Given the description of an element on the screen output the (x, y) to click on. 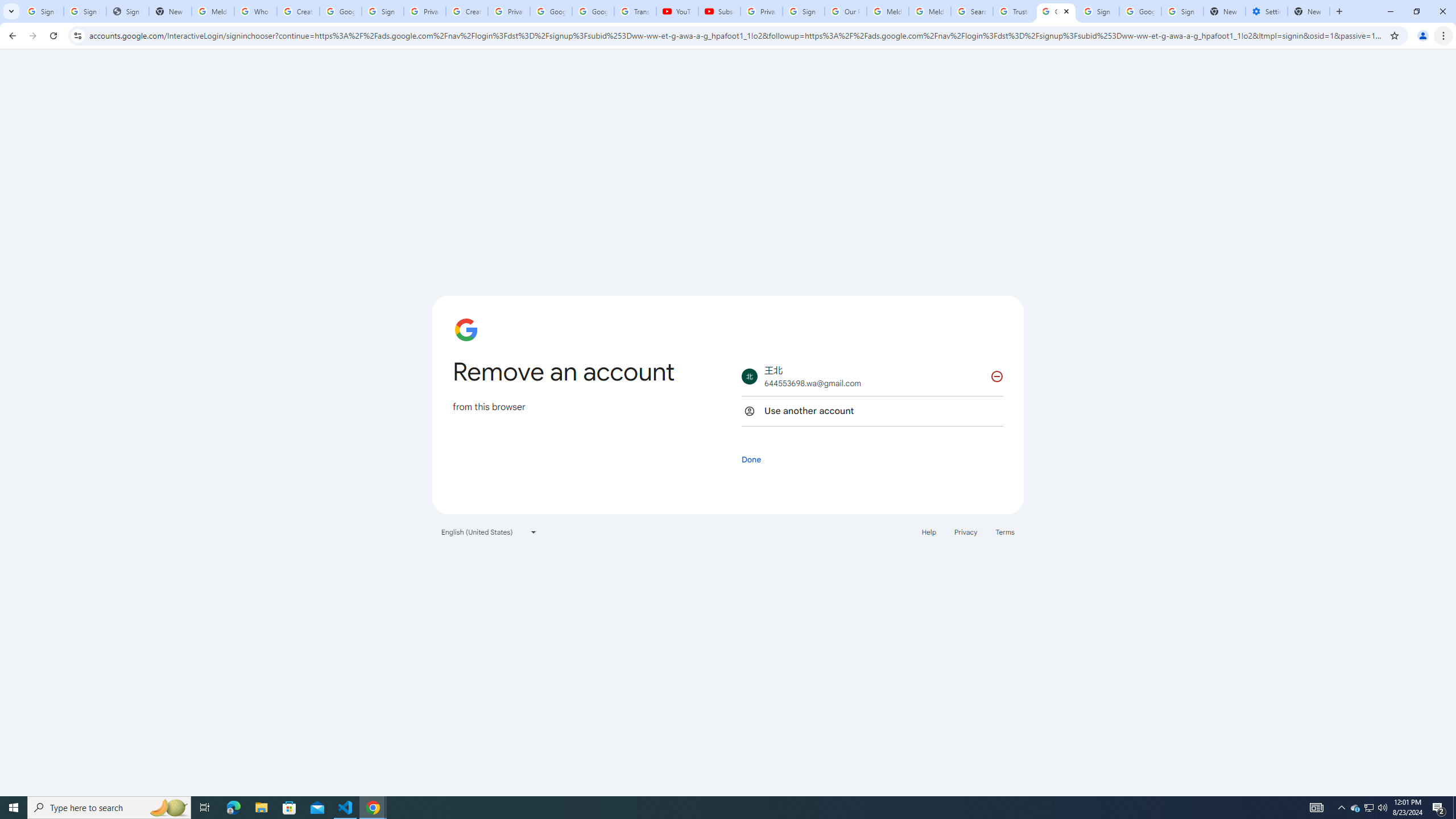
Google Ads - Sign in (1055, 11)
Google Account (592, 11)
Settings - Addresses and more (1266, 11)
Create your Google Account (298, 11)
